Given the description of an element on the screen output the (x, y) to click on. 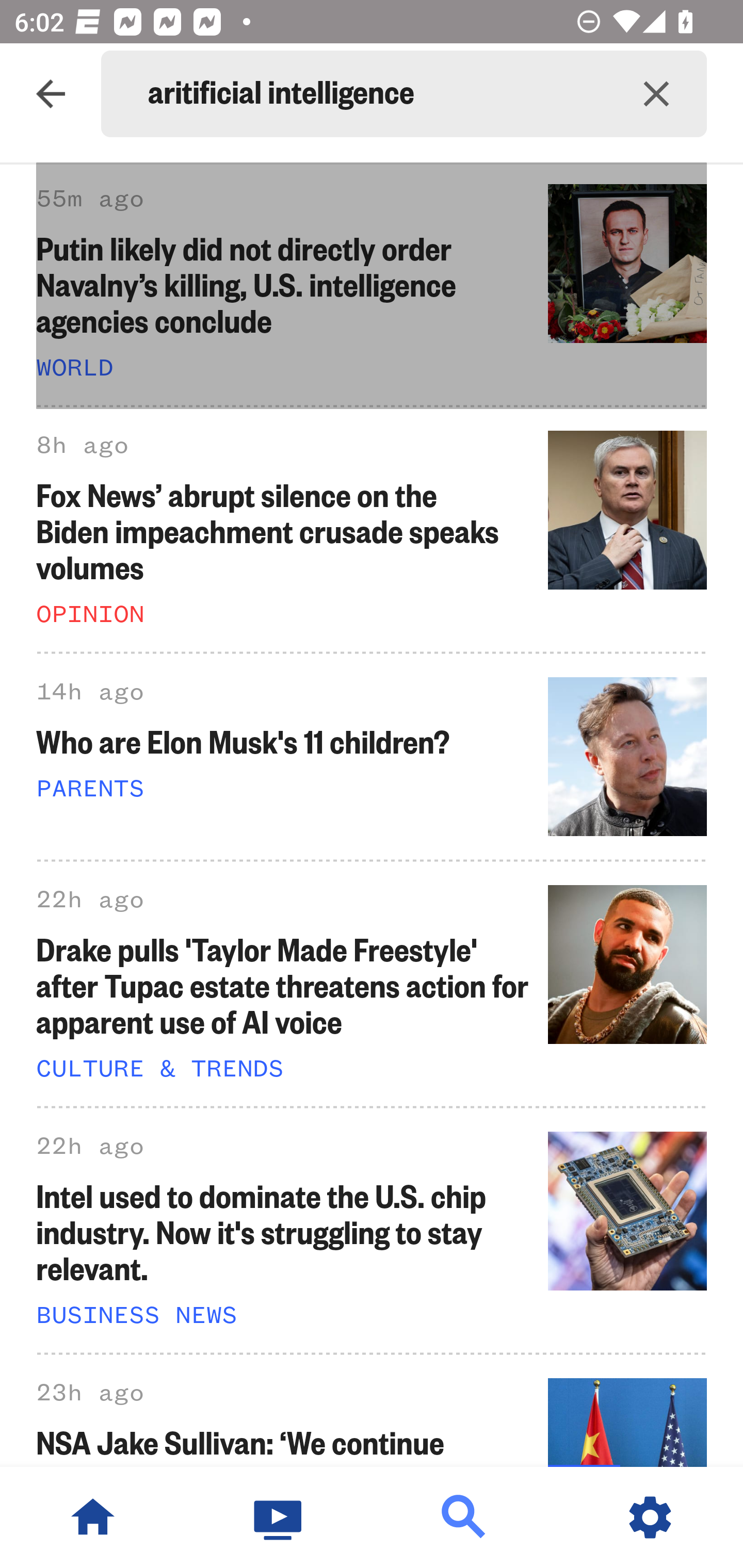
Navigate up (50, 93)
Clear query (656, 93)
aritificial intelligence (376, 94)
NBC News Home (92, 1517)
Watch (278, 1517)
Settings (650, 1517)
